Given the description of an element on the screen output the (x, y) to click on. 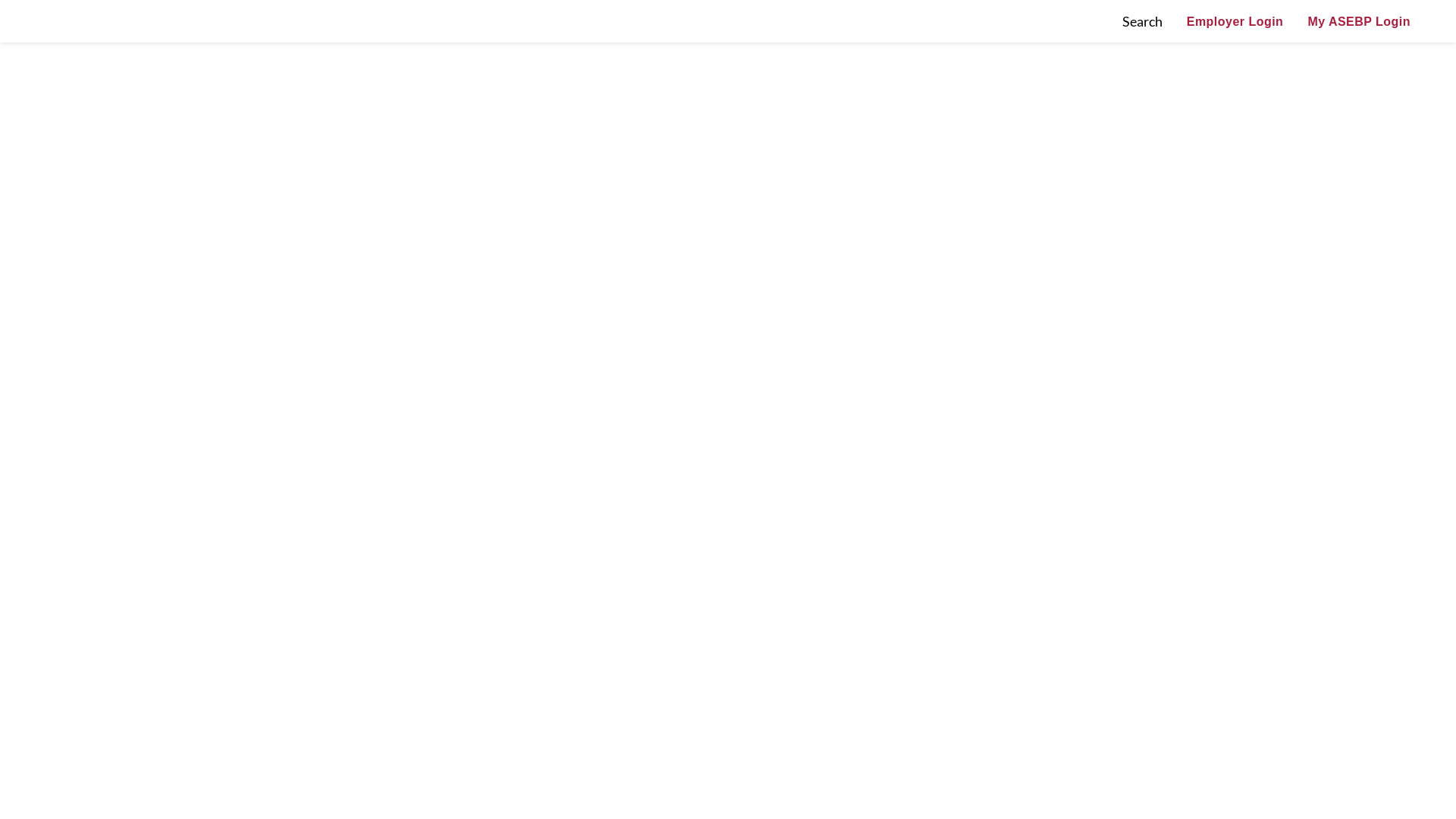
Search Element type: text (1142, 21)
My ASEBP Login Element type: text (1358, 21)
Employer Login Element type: text (1234, 21)
